Given the description of an element on the screen output the (x, y) to click on. 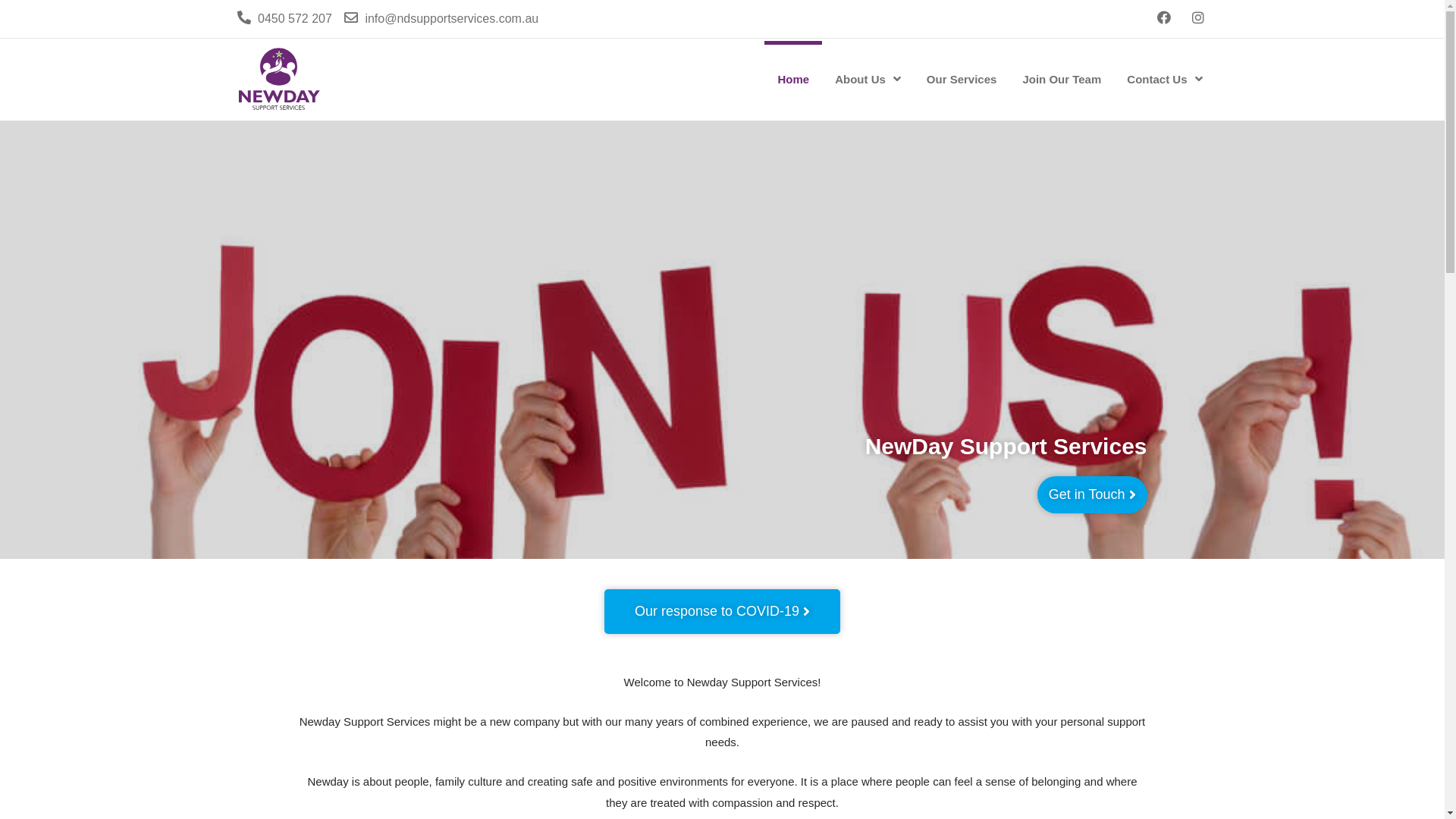
info@ndsupportservices.com.au Element type: text (441, 18)
About Us Element type: text (867, 79)
Join Our Team Element type: text (1061, 79)
Get in Touch Element type: text (1092, 494)
0450 572 207 Element type: text (283, 18)
Our Services Element type: text (961, 79)
Home Element type: text (793, 79)
Contact Us Element type: text (1163, 79)
Our response to COVID-19 Element type: text (722, 611)
